Given the description of an element on the screen output the (x, y) to click on. 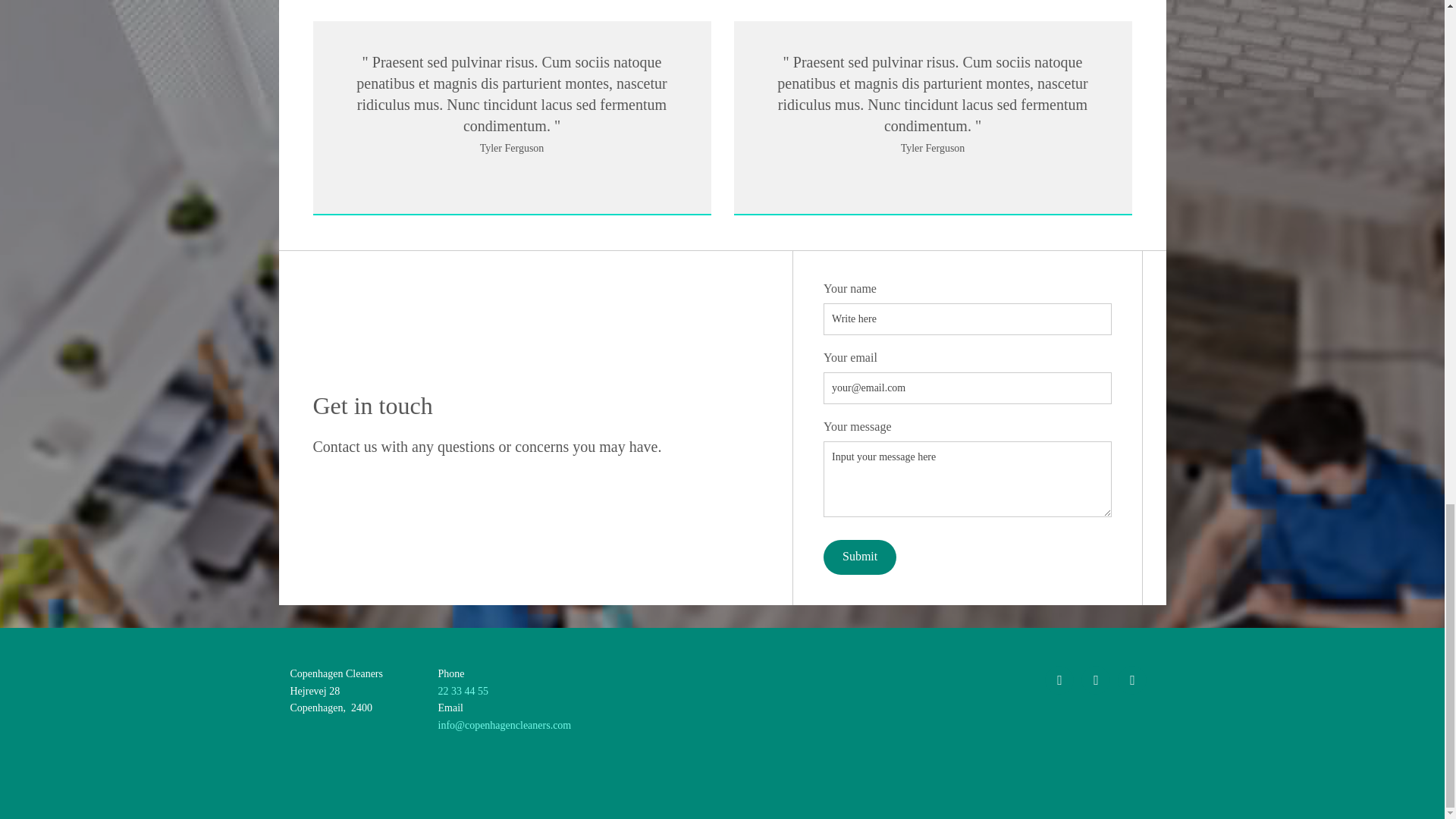
Submit (860, 556)
22 33 44 55 (463, 690)
Submit (860, 556)
